Given the description of an element on the screen output the (x, y) to click on. 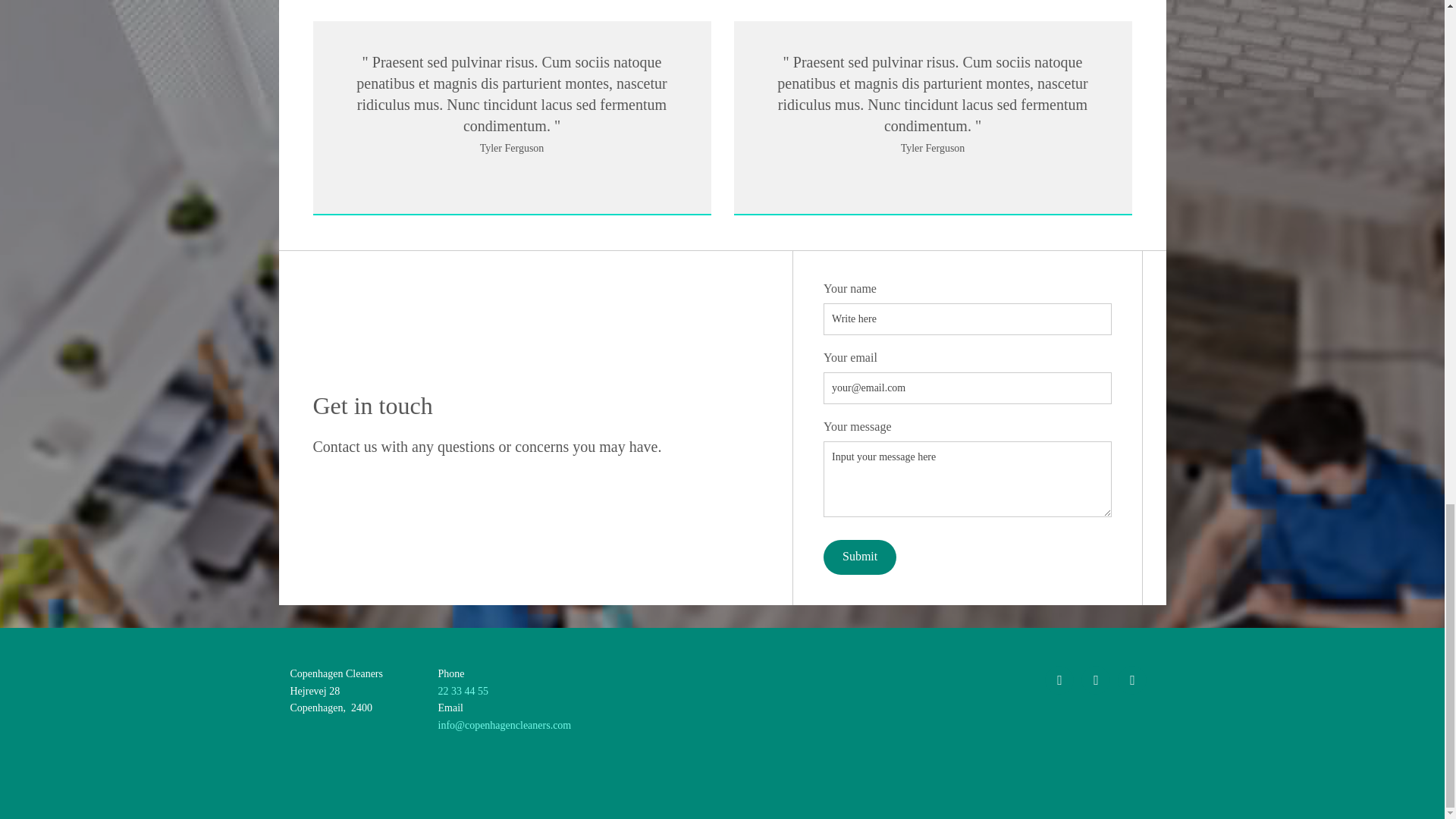
Submit (860, 556)
22 33 44 55 (463, 690)
Submit (860, 556)
